Given the description of an element on the screen output the (x, y) to click on. 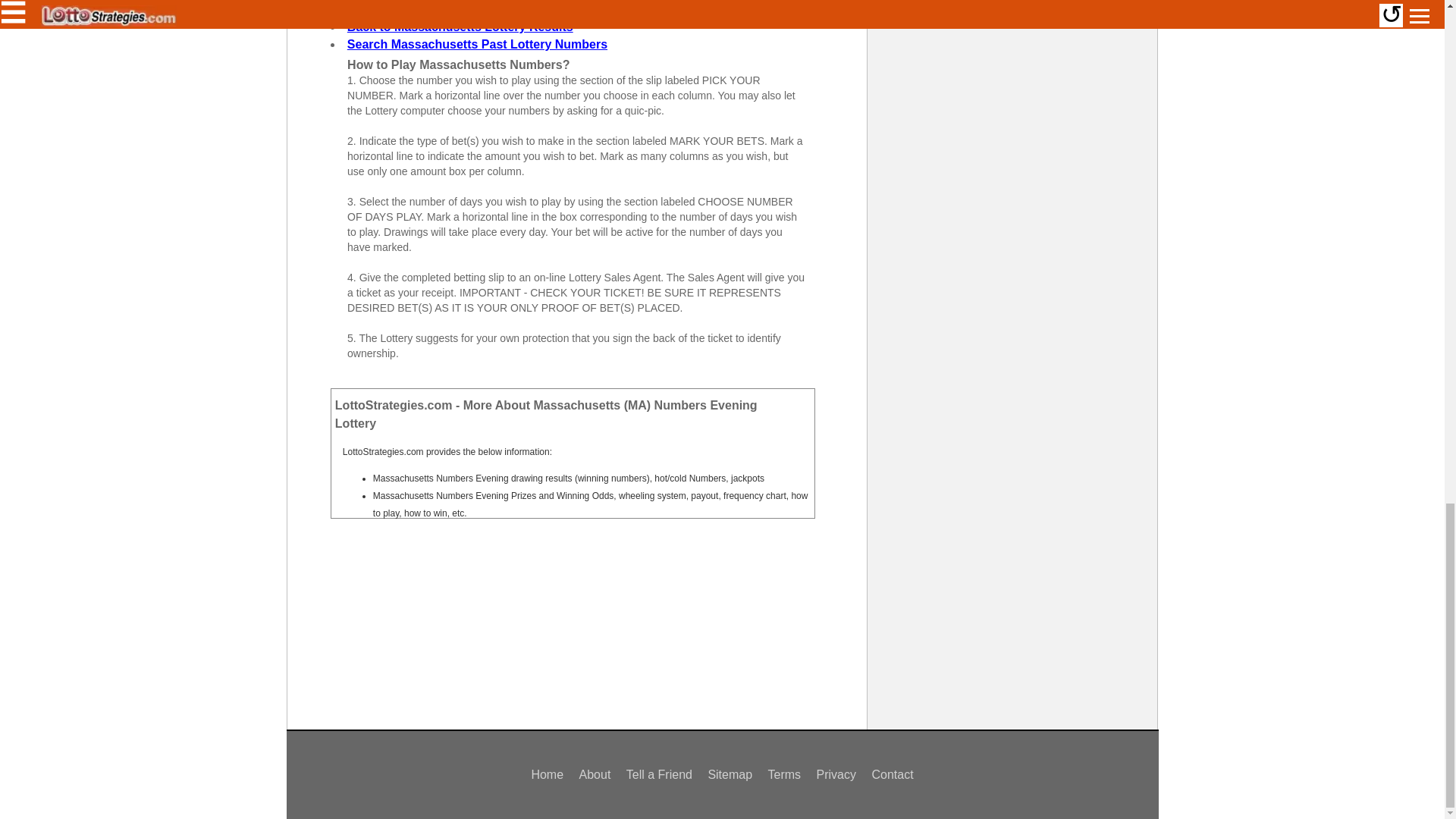
Advertisement (576, 628)
